Given the description of an element on the screen output the (x, y) to click on. 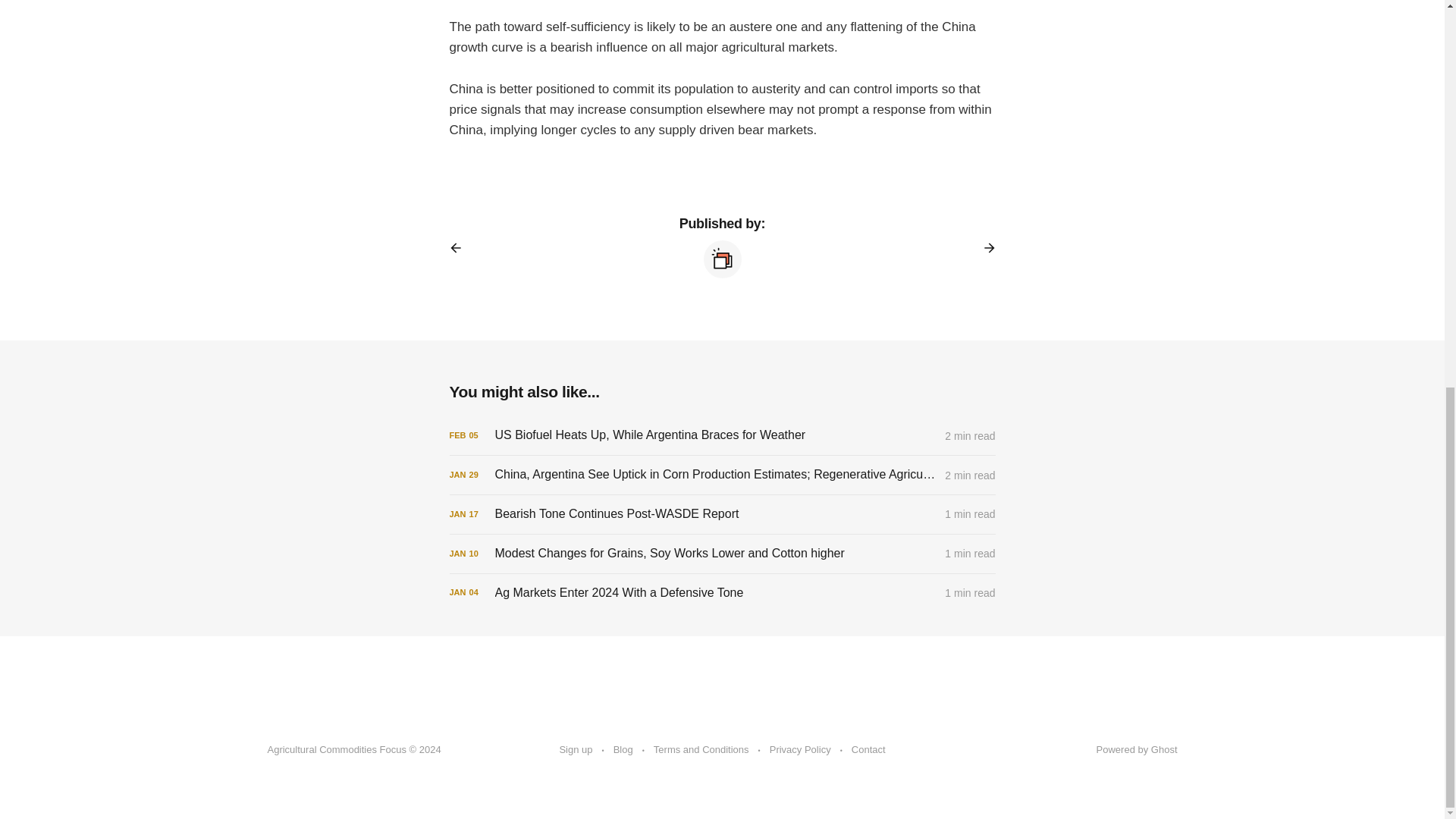
Powered by Ghost (1136, 749)
Privacy Policy (800, 750)
Terms and Conditions (701, 750)
Blog (622, 750)
Sign up (575, 750)
Contact (868, 750)
